Given the description of an element on the screen output the (x, y) to click on. 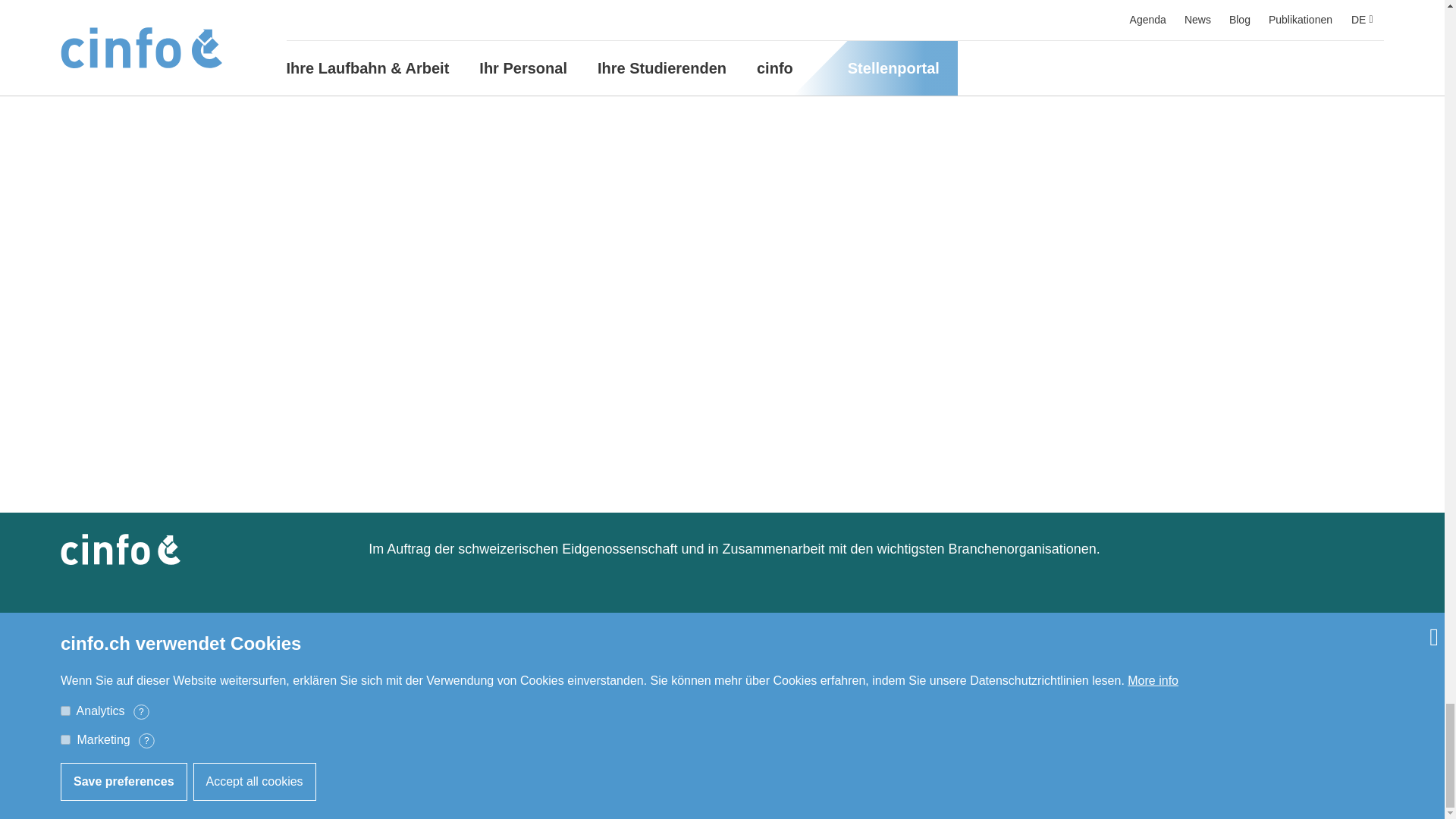
Kontaktieren Sie uns (562, 742)
